Given the description of an element on the screen output the (x, y) to click on. 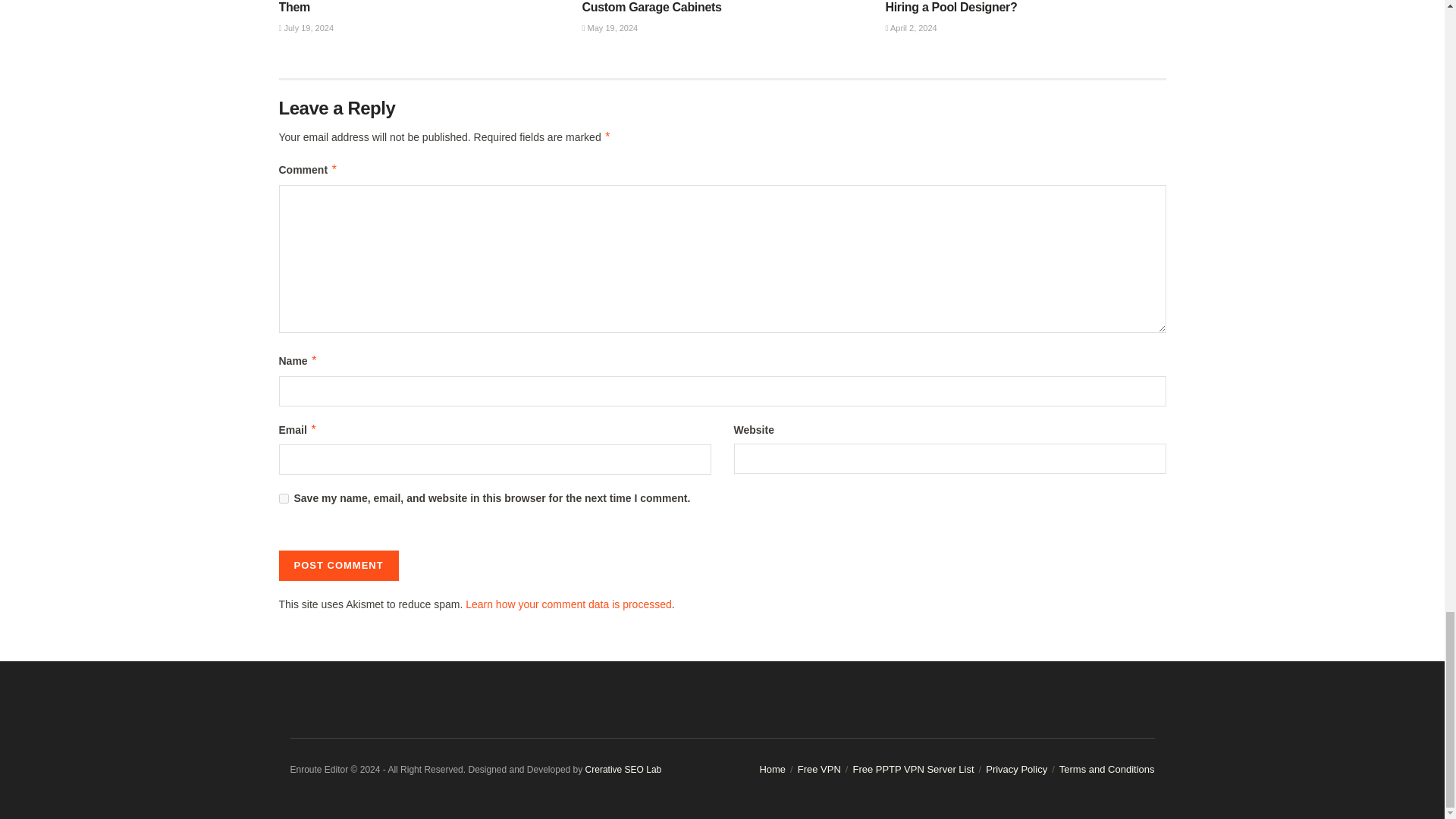
yes (283, 498)
Post Comment (338, 565)
